Given the description of an element on the screen output the (x, y) to click on. 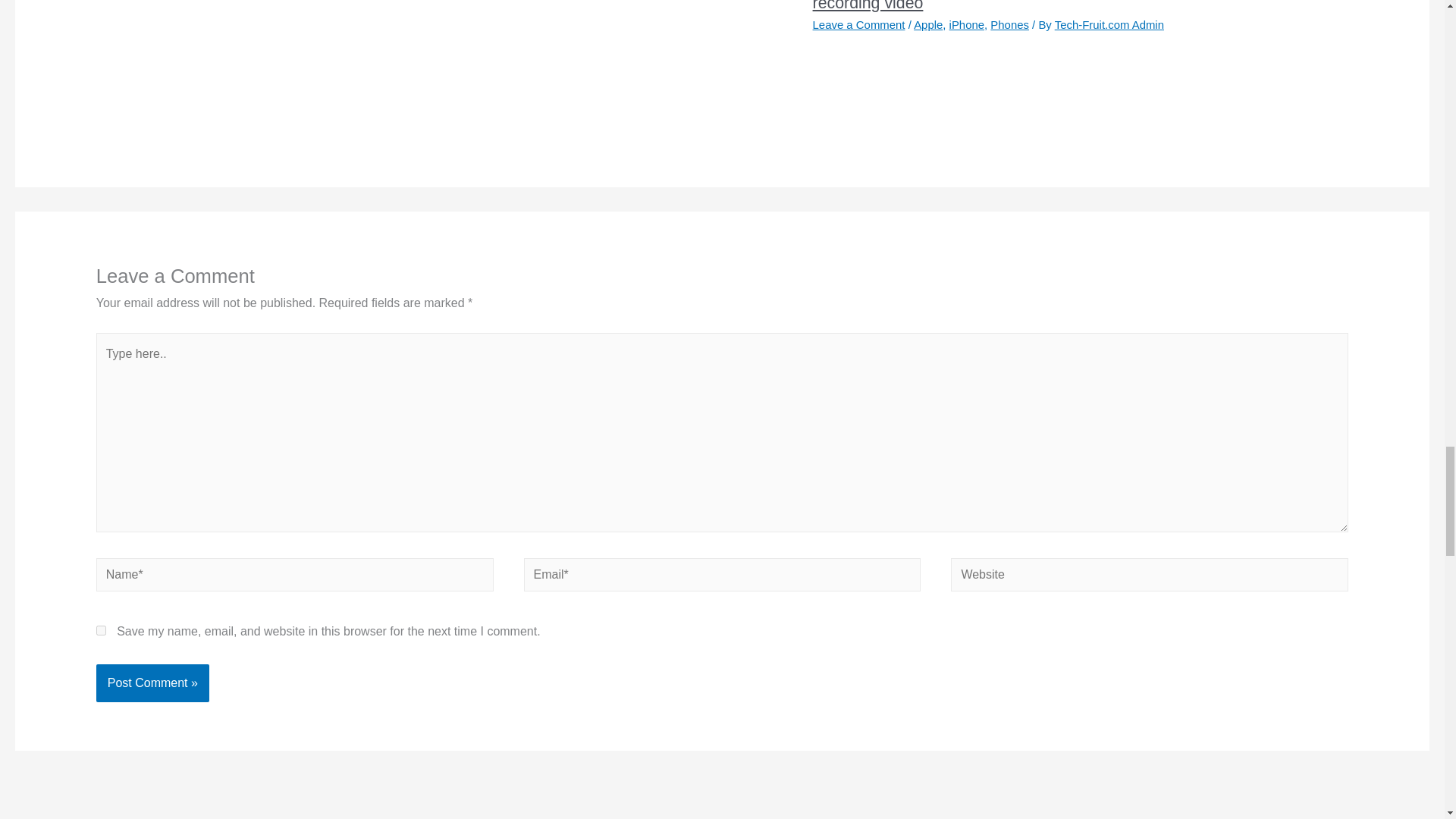
yes (101, 630)
View all posts by Tech-Fruit.com Admin (1108, 24)
